Given the description of an element on the screen output the (x, y) to click on. 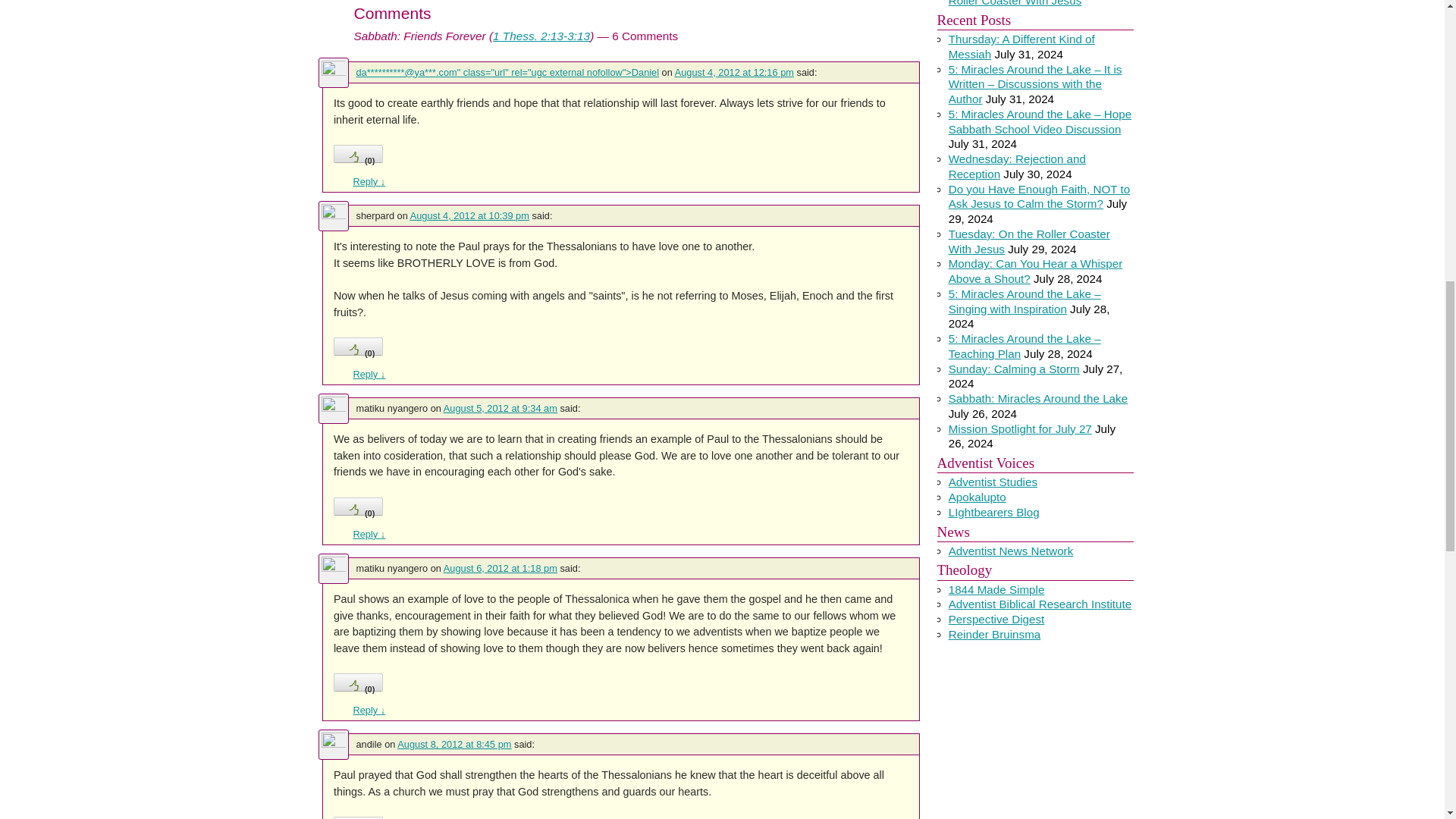
 David Hamstra blog (977, 496)
Official Adventist News Network (1011, 550)
by Arthur Patrick of Avondale (992, 481)
